Given the description of an element on the screen output the (x, y) to click on. 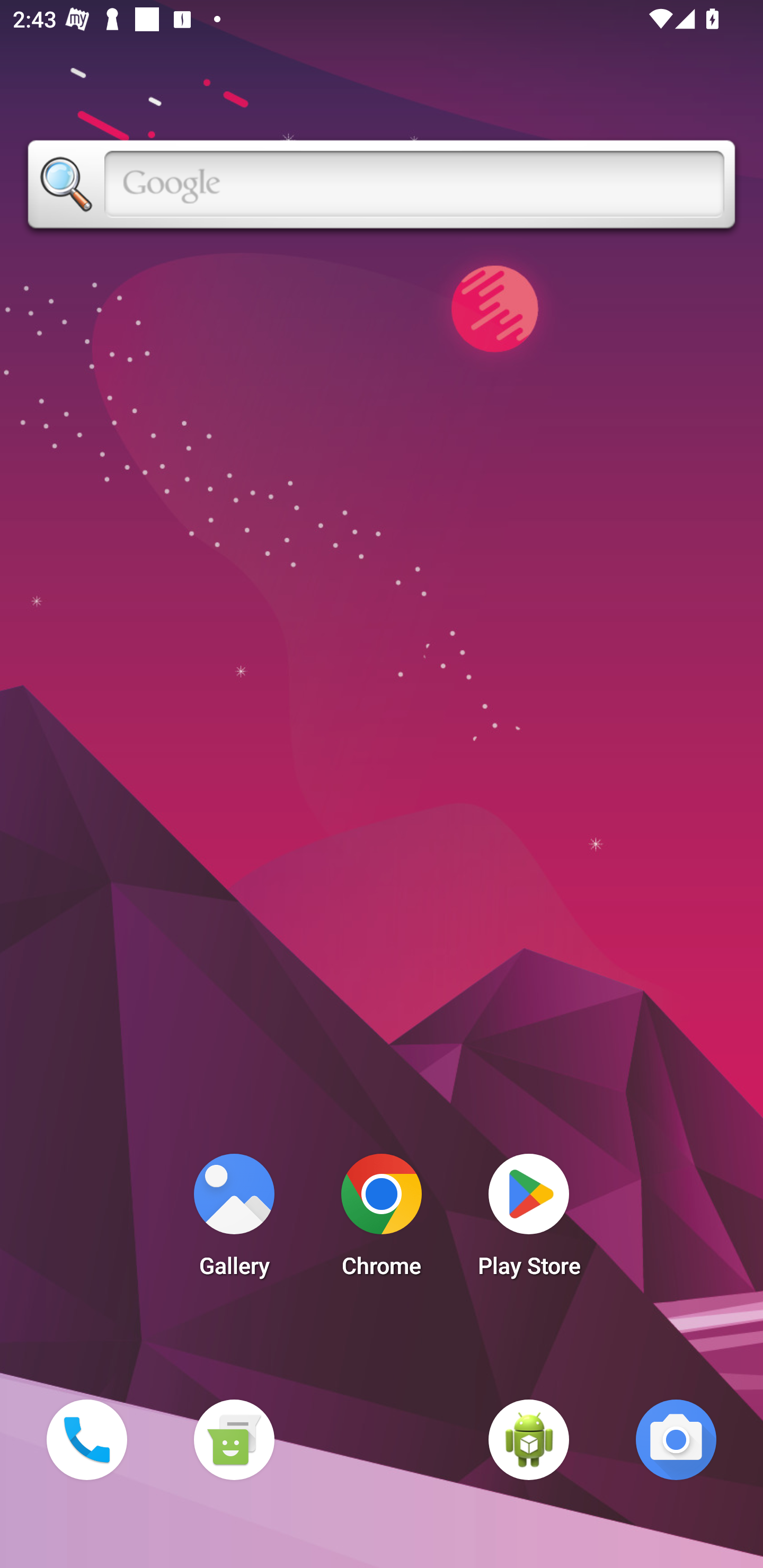
Gallery (233, 1220)
Chrome (381, 1220)
Play Store (528, 1220)
Phone (86, 1439)
Messaging (233, 1439)
WebView Browser Tester (528, 1439)
Camera (676, 1439)
